Given the description of an element on the screen output the (x, y) to click on. 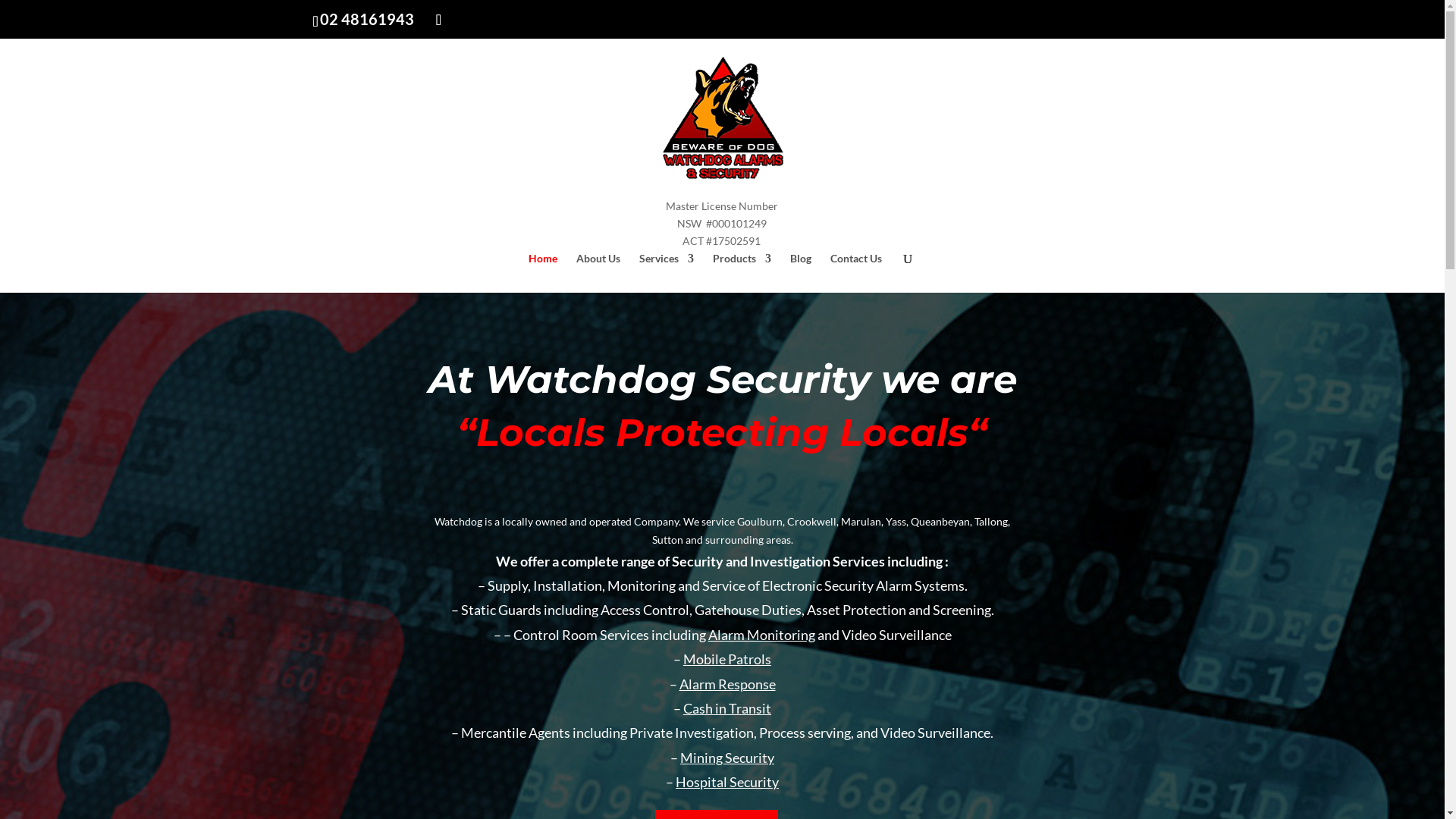
Home Element type: text (542, 272)
Alarm Monitoring Element type: text (761, 634)
02 48161943 Element type: text (367, 18)
Hospital Security Element type: text (726, 781)
Contact Us Element type: text (855, 272)
About Us Element type: text (598, 272)
Mobile Patrols Element type: text (727, 658)
Products Element type: text (741, 272)
Cash in Transit Element type: text (727, 707)
Mining Security Element type: text (727, 757)
Blog Element type: text (800, 272)
Alarm Response Element type: text (727, 683)
Services Element type: text (666, 272)
